Given the description of an element on the screen output the (x, y) to click on. 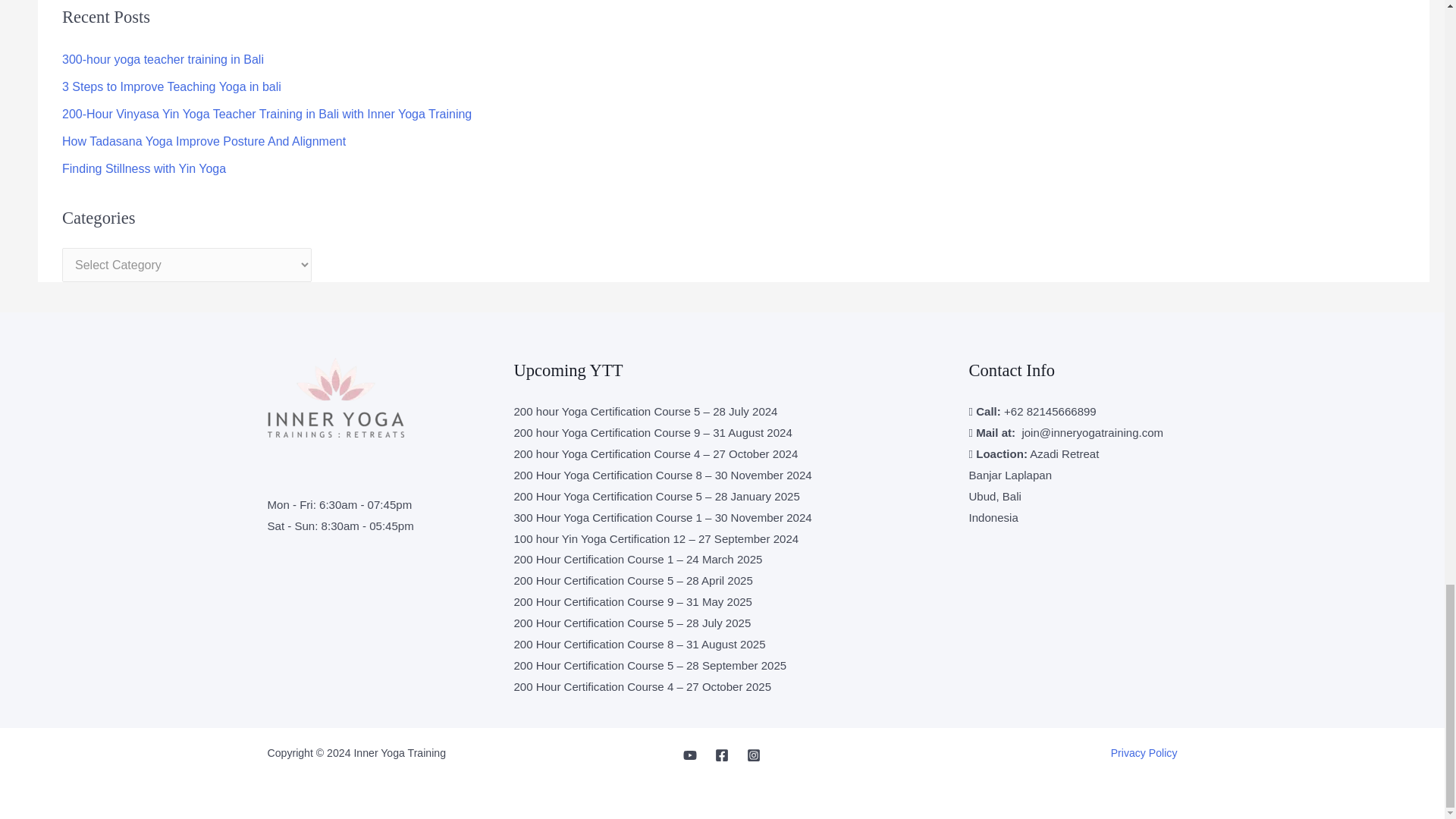
300-hour yoga teacher training in Bali (162, 59)
3 Steps to Improve Teaching Yoga in bali (171, 86)
